Given the description of an element on the screen output the (x, y) to click on. 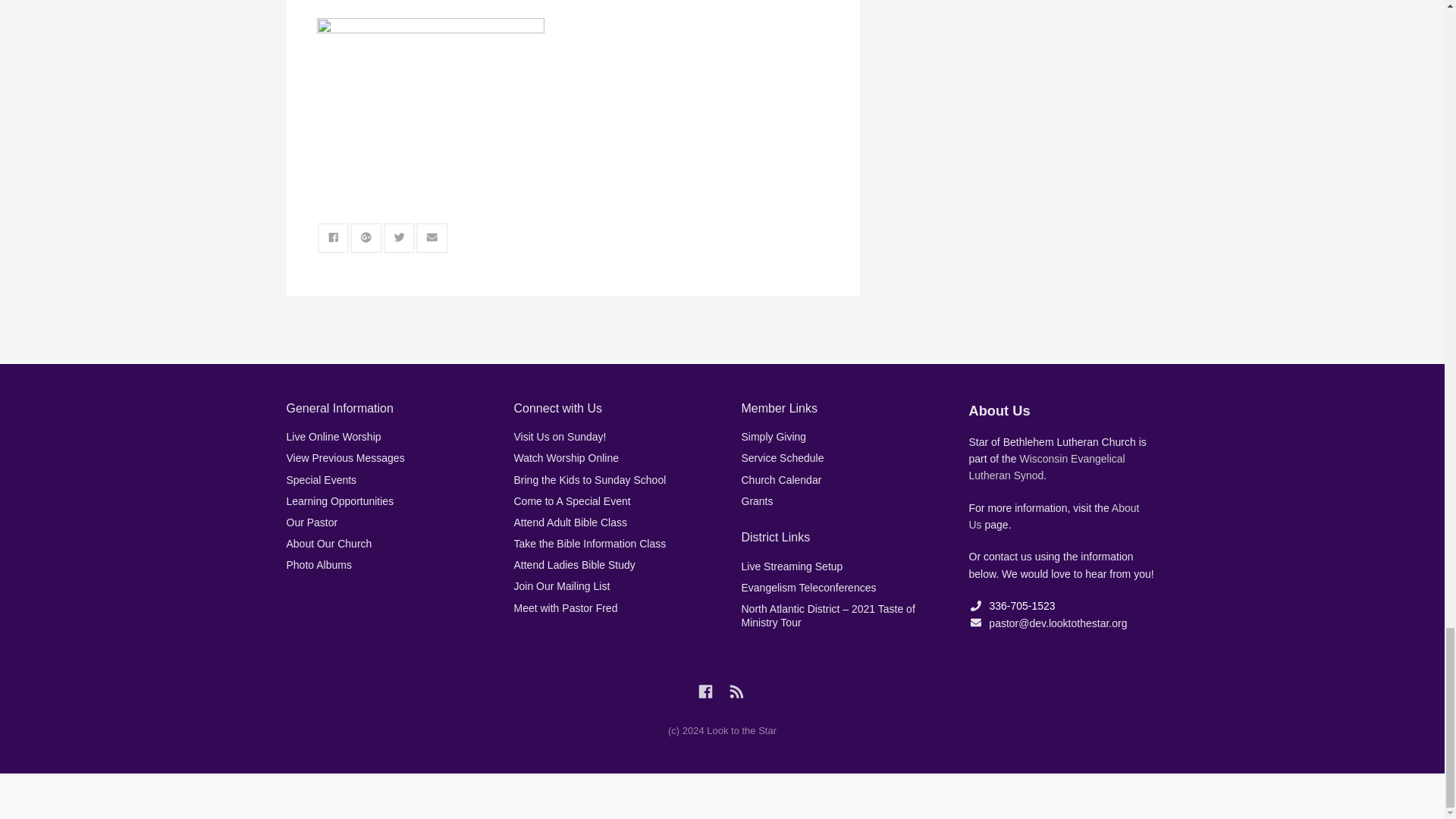
Our Pastor (311, 522)
Live Online Worship (333, 436)
Learning Opportunities (340, 500)
View Previous Messages (345, 458)
Special Events (321, 480)
